Given the description of an element on the screen output the (x, y) to click on. 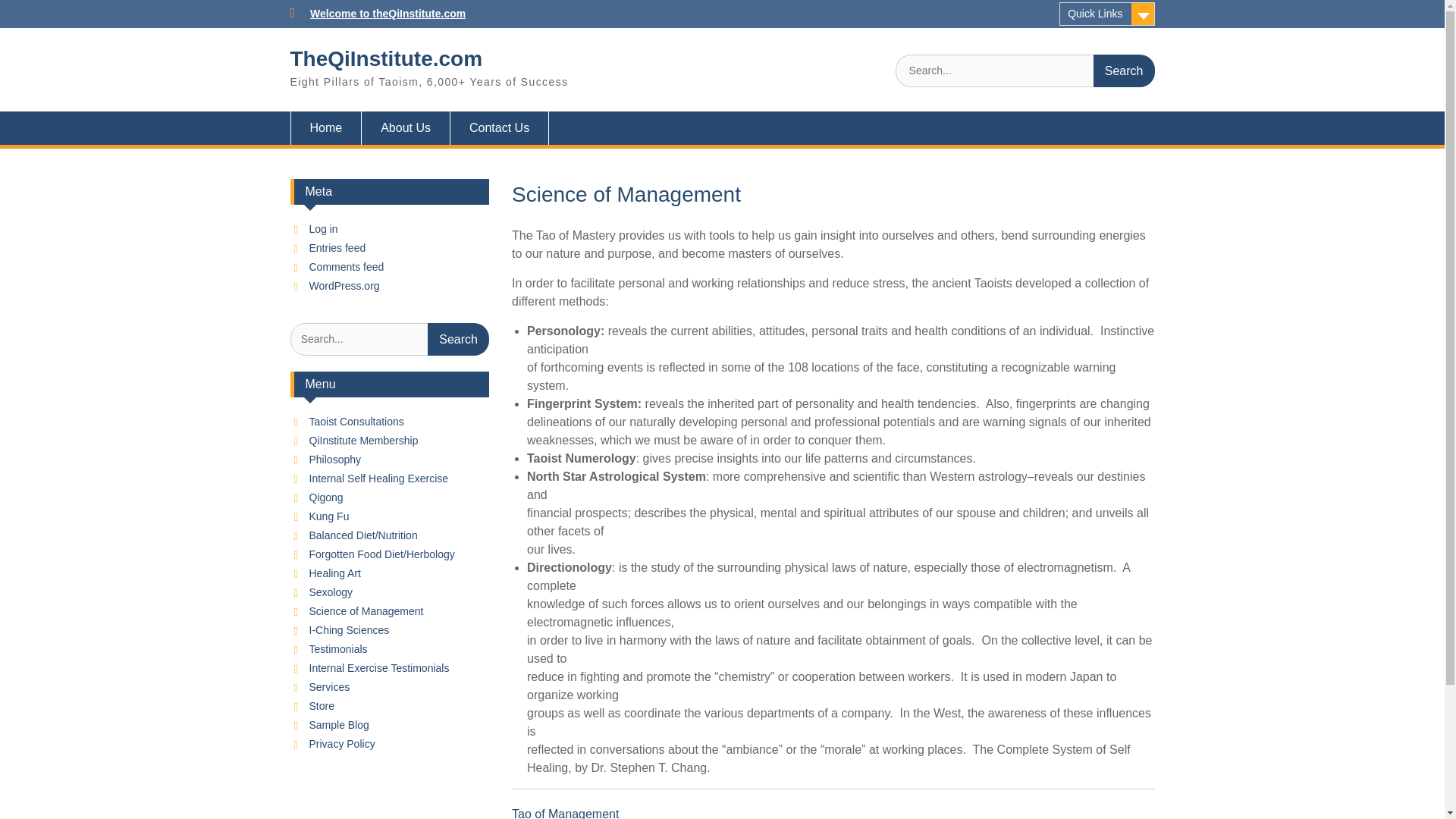
Entries feed (337, 247)
Tao of Management (565, 813)
Quick Links (1106, 13)
Search (458, 338)
About Us (405, 127)
WordPress.org (344, 285)
Log in (322, 228)
Search (1123, 70)
Home (325, 127)
Search for: (1024, 70)
